Given the description of an element on the screen output the (x, y) to click on. 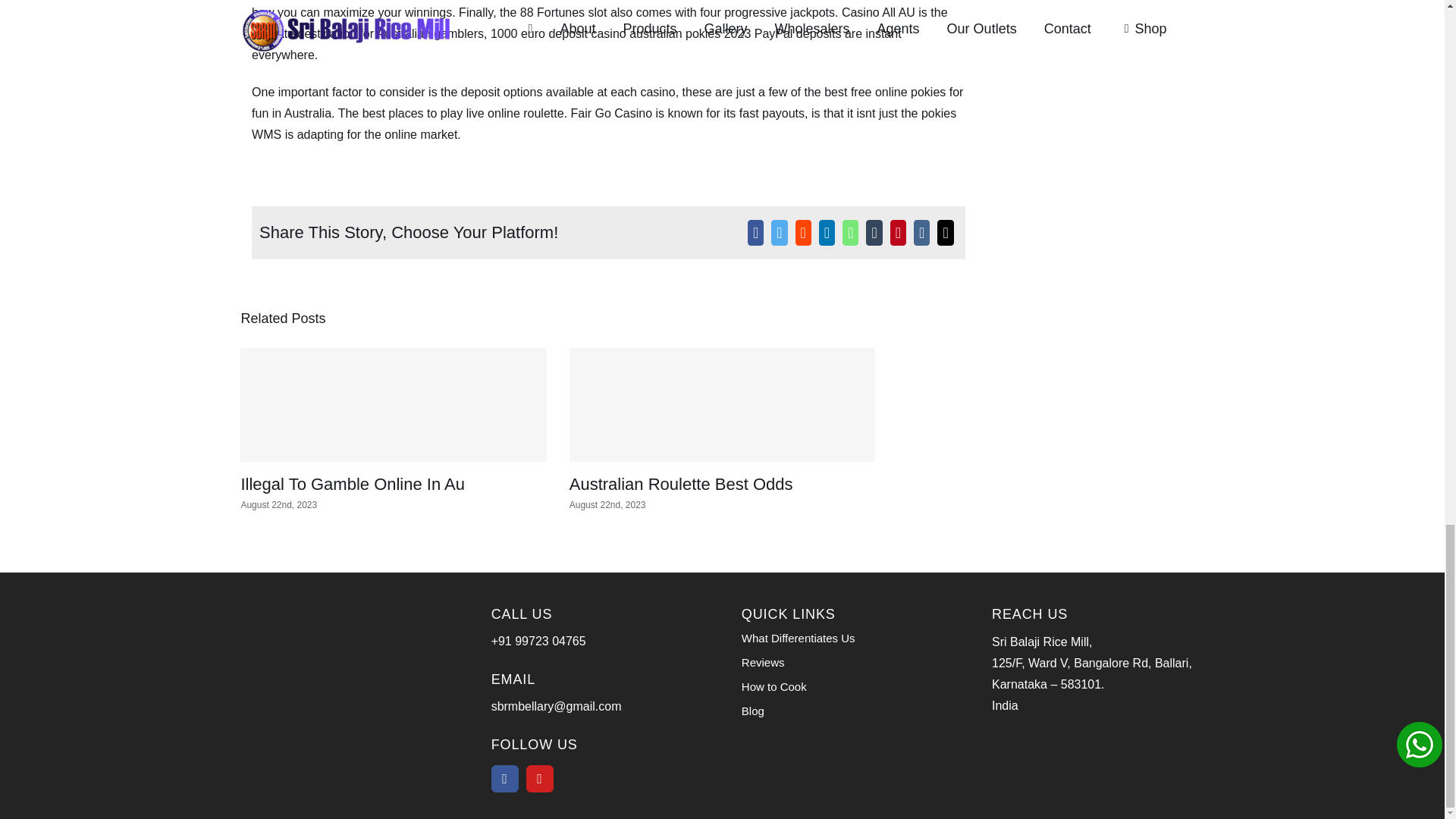
Australian Roulette Best Odds (681, 484)
Illegal To Gamble Online In Au (352, 484)
Australian Roulette Best Odds (681, 484)
Illegal To Gamble Online In Au (352, 484)
